Given the description of an element on the screen output the (x, y) to click on. 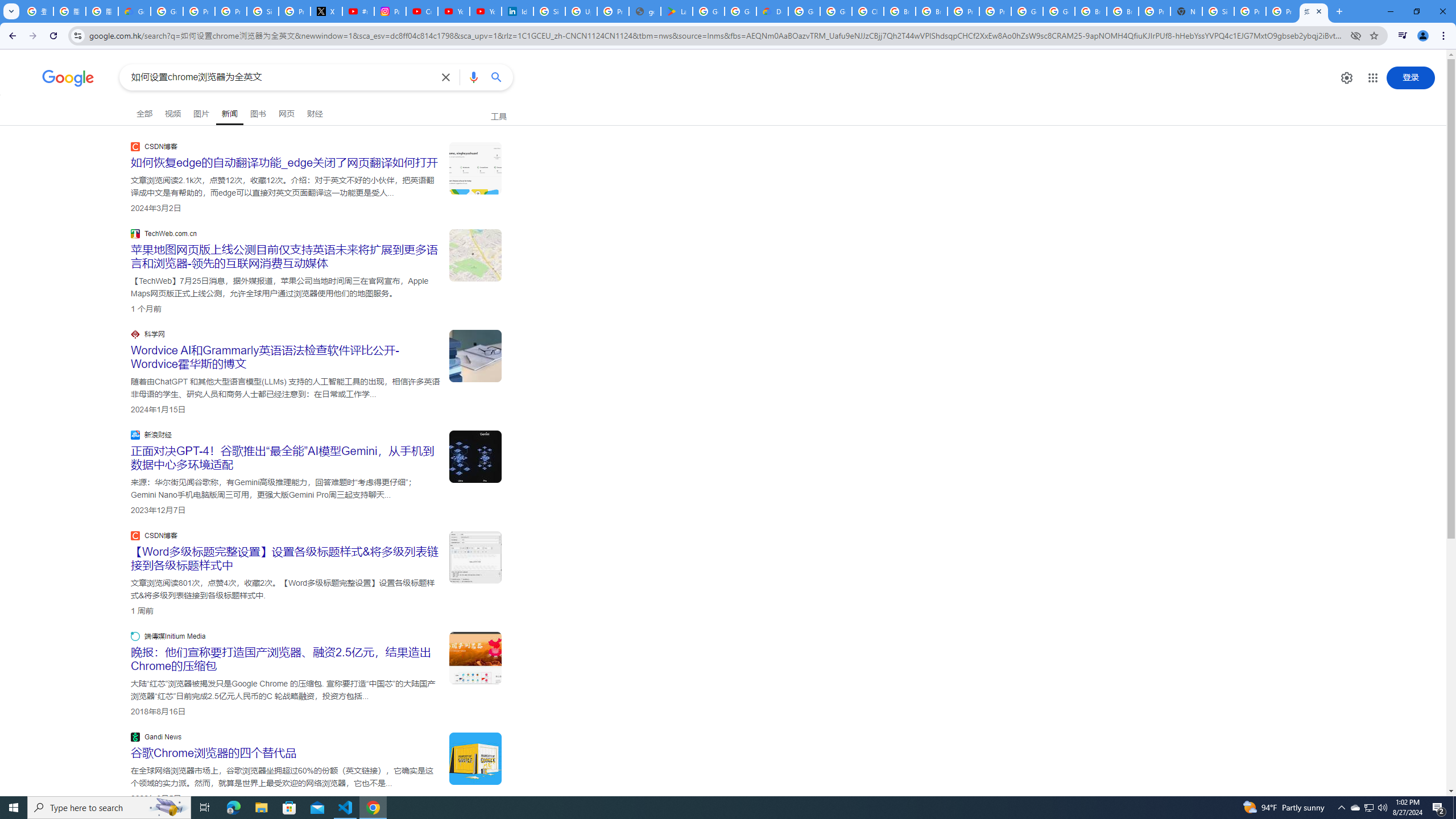
Browse Chrome as a guest - Computer - Google Chrome Help (1091, 11)
Sign in - Google Accounts (1217, 11)
Google Cloud Platform (1027, 11)
